Given the description of an element on the screen output the (x, y) to click on. 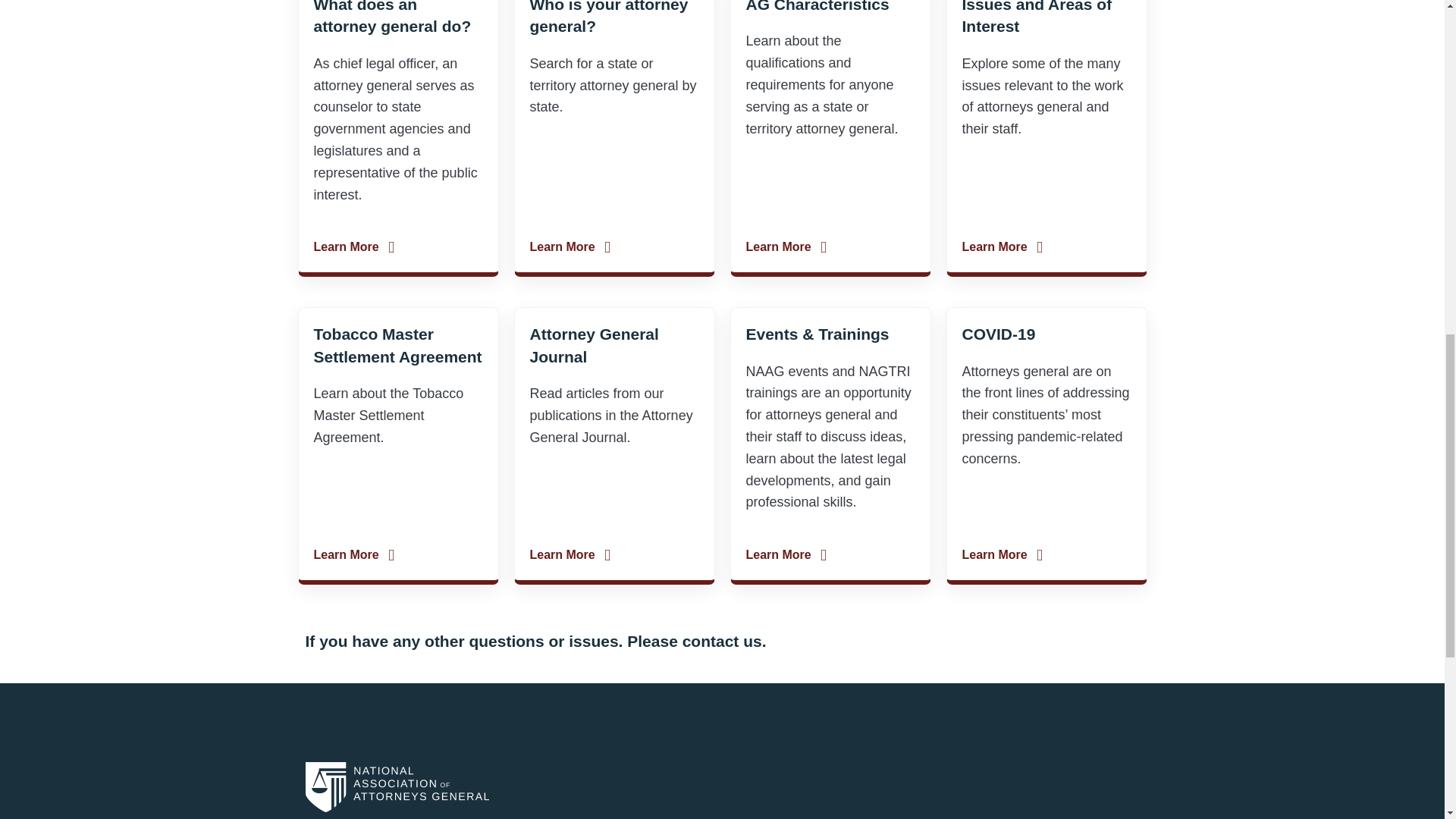
Attorney General Journal (593, 344)
What does an attorney general do? (392, 17)
Tobacco Master Settlement Agreement (397, 344)
Issues and Areas of Interest (1036, 17)
COVID-19 (997, 334)
AG Characteristics (817, 6)
Who is your attorney general? (608, 17)
